Given the description of an element on the screen output the (x, y) to click on. 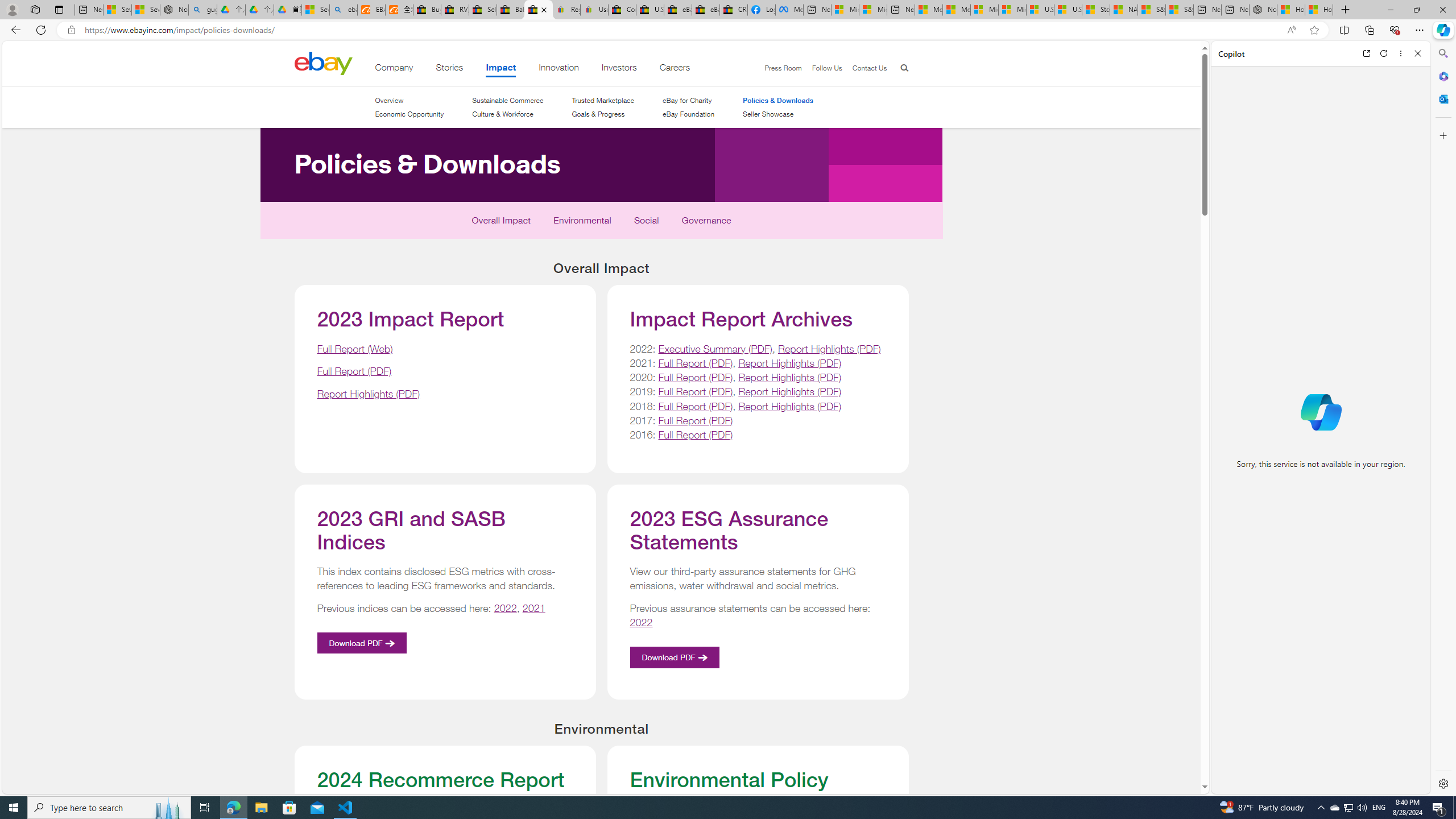
Microsoft account | Privacy (872, 9)
Sustainable Commerce (507, 99)
eBay for Charity (688, 100)
Trusted Marketplace (603, 99)
Seller Showcase (777, 113)
Social (646, 222)
Stories (449, 69)
Buy Auto Parts & Accessories | eBay (426, 9)
